Given the description of an element on the screen output the (x, y) to click on. 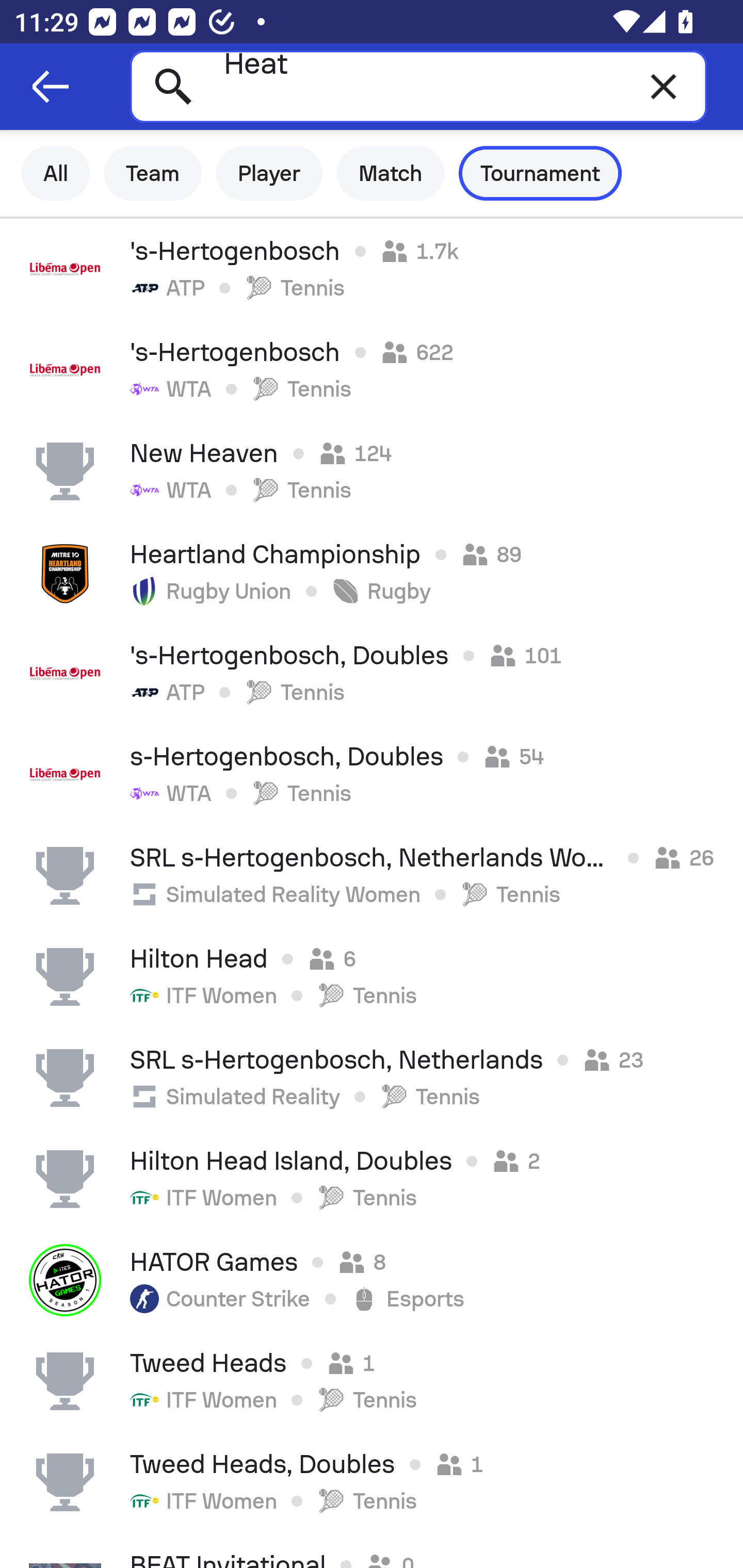
Navigate up (50, 86)
Heat
 (418, 86)
Clear text (663, 86)
All (55, 172)
Team (152, 172)
Player (268, 172)
Match (390, 172)
Tournament (540, 172)
's-Hertogenbosch 1.7k ATP Tennis (371, 268)
's-Hertogenbosch 622 WTA Tennis (371, 369)
New Heaven 124 WTA Tennis (371, 471)
Heartland Championship 89 Rugby Union Rugby (371, 572)
's-Hertogenbosch, Doubles 101 ATP Tennis (371, 673)
s-Hertogenbosch, Doubles 54 WTA Tennis (371, 774)
Hilton Head 6 ITF Women Tennis (371, 976)
Hilton Head Island, Doubles 2 ITF Women Tennis (371, 1178)
HATOR Games 8 Counter Strike Esports (371, 1280)
Tweed Heads 1 ITF Women Tennis (371, 1381)
Tweed Heads, Doubles 1 ITF Women Tennis (371, 1482)
